Given the description of an element on the screen output the (x, y) to click on. 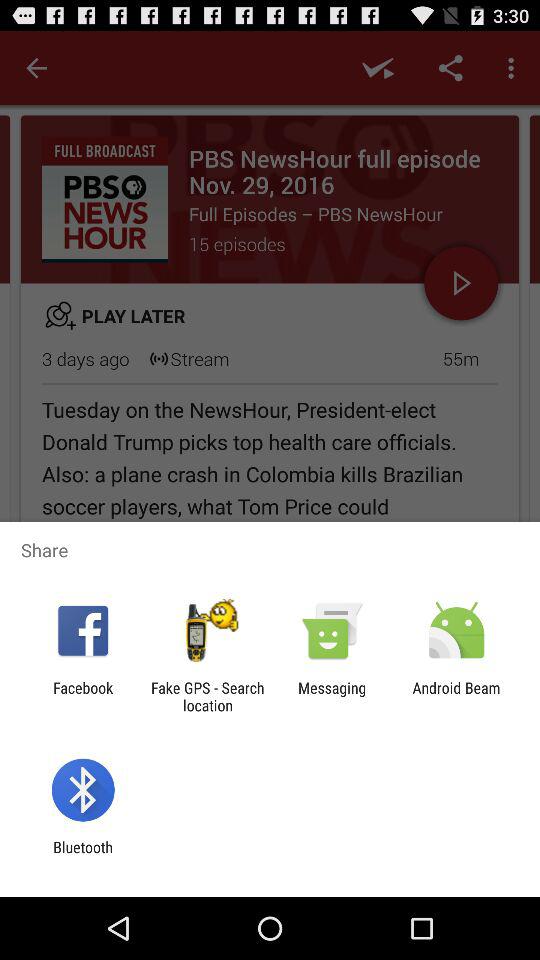
choose item next to fake gps search item (332, 696)
